Given the description of an element on the screen output the (x, y) to click on. 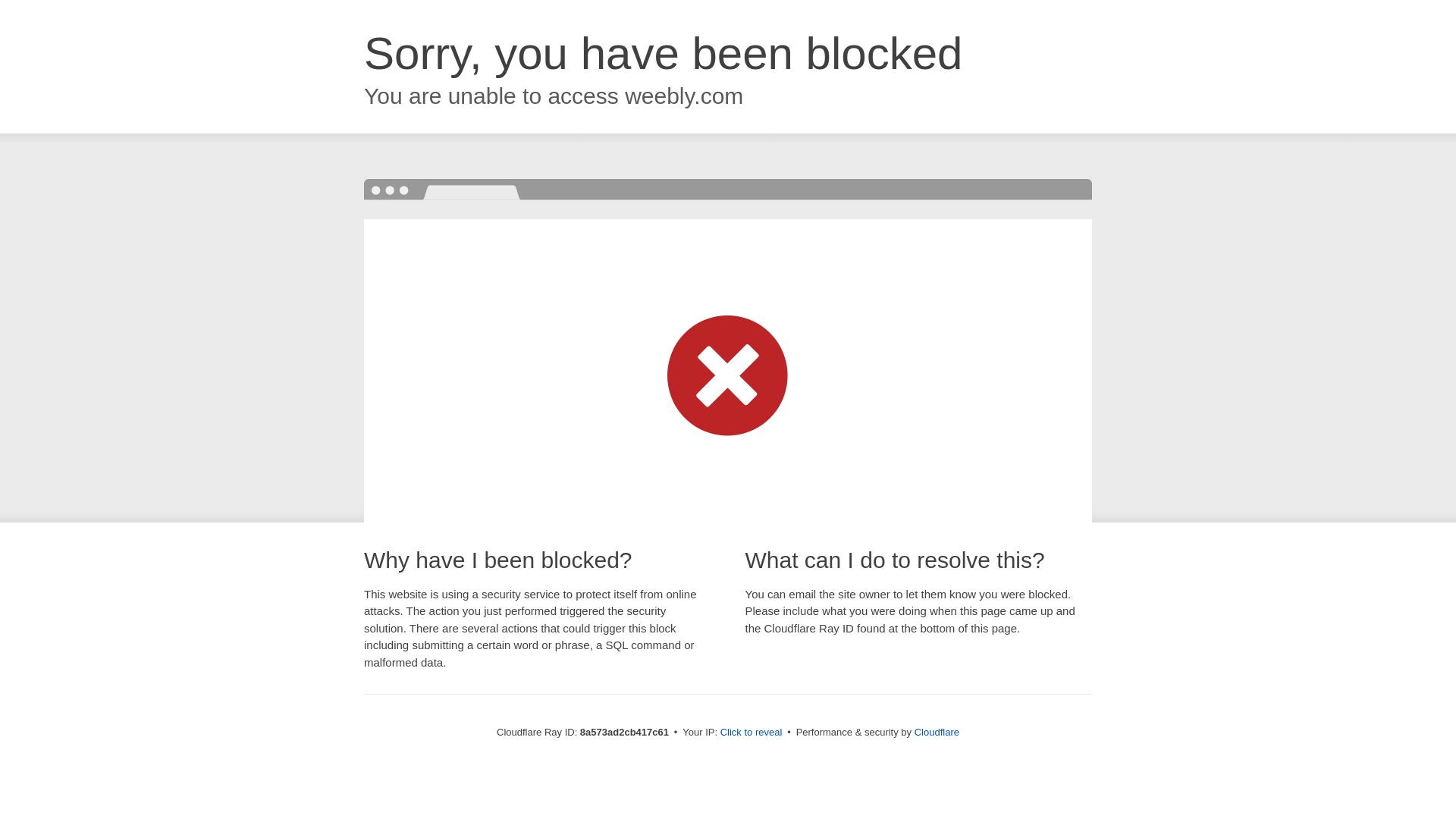
Click to reveal (751, 732)
Cloudflare (936, 731)
